Given the description of an element on the screen output the (x, y) to click on. 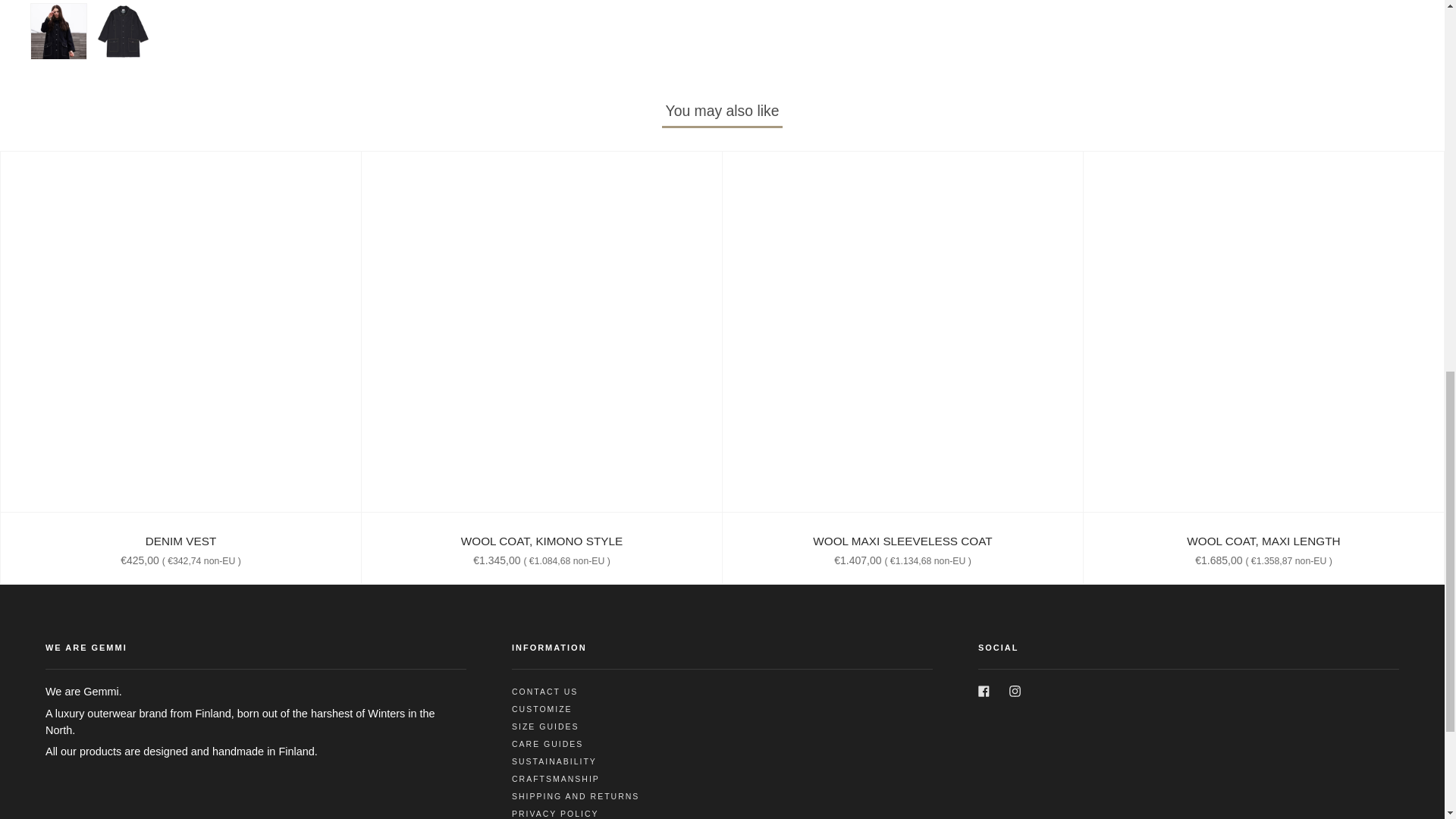
Gemmifinland on Facebook (984, 689)
Gemmifinland on Instagram (1014, 689)
